Given the description of an element on the screen output the (x, y) to click on. 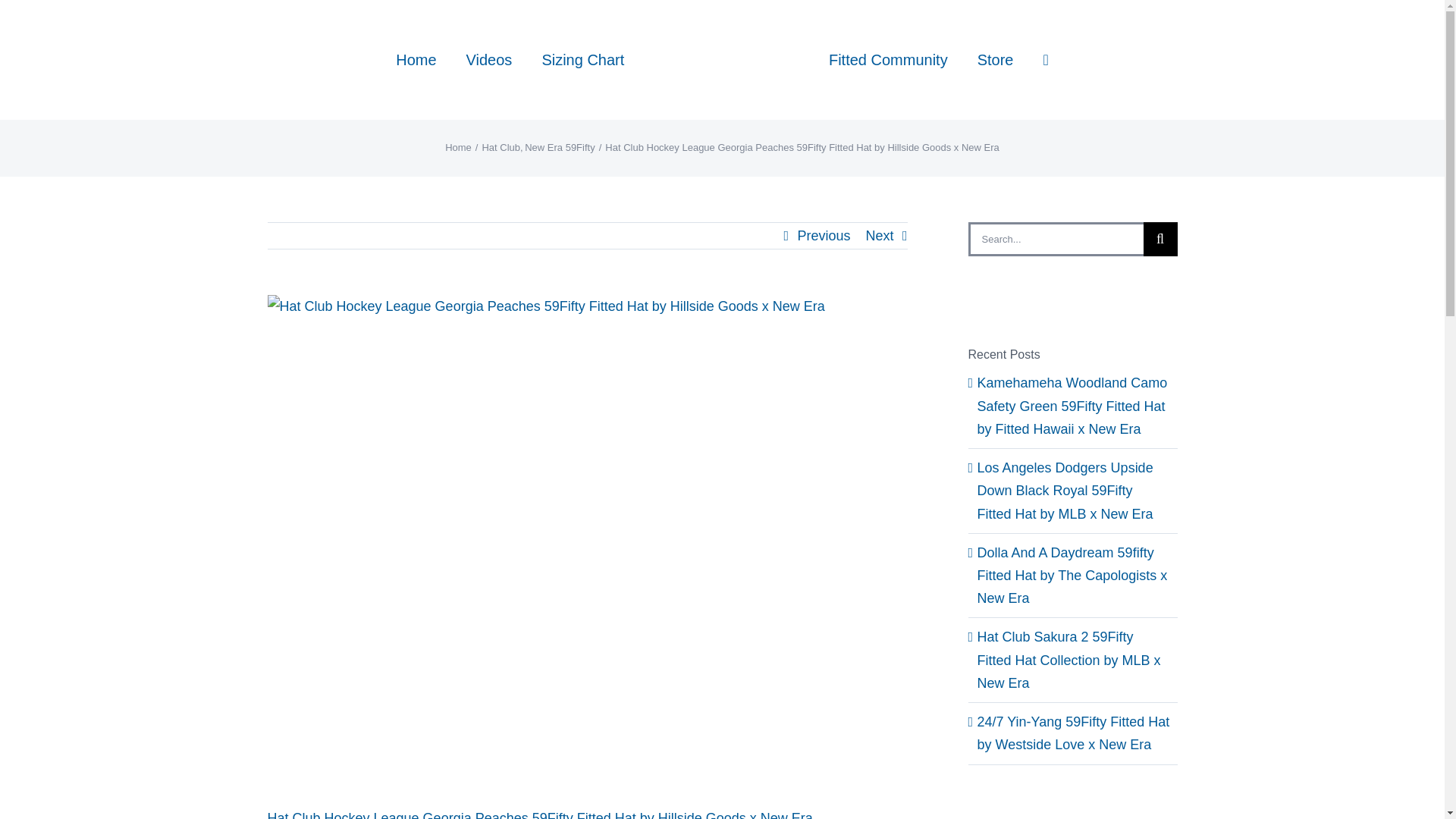
New Era 59Fifty (559, 147)
Fitted Community Resources (887, 59)
Fitted Community (887, 59)
Sizing Chart (582, 59)
Hat Club (500, 147)
Fitted Baseball Cap Sizing Chart (582, 59)
Home (458, 147)
Previous (823, 235)
Next (878, 235)
